Given the description of an element on the screen output the (x, y) to click on. 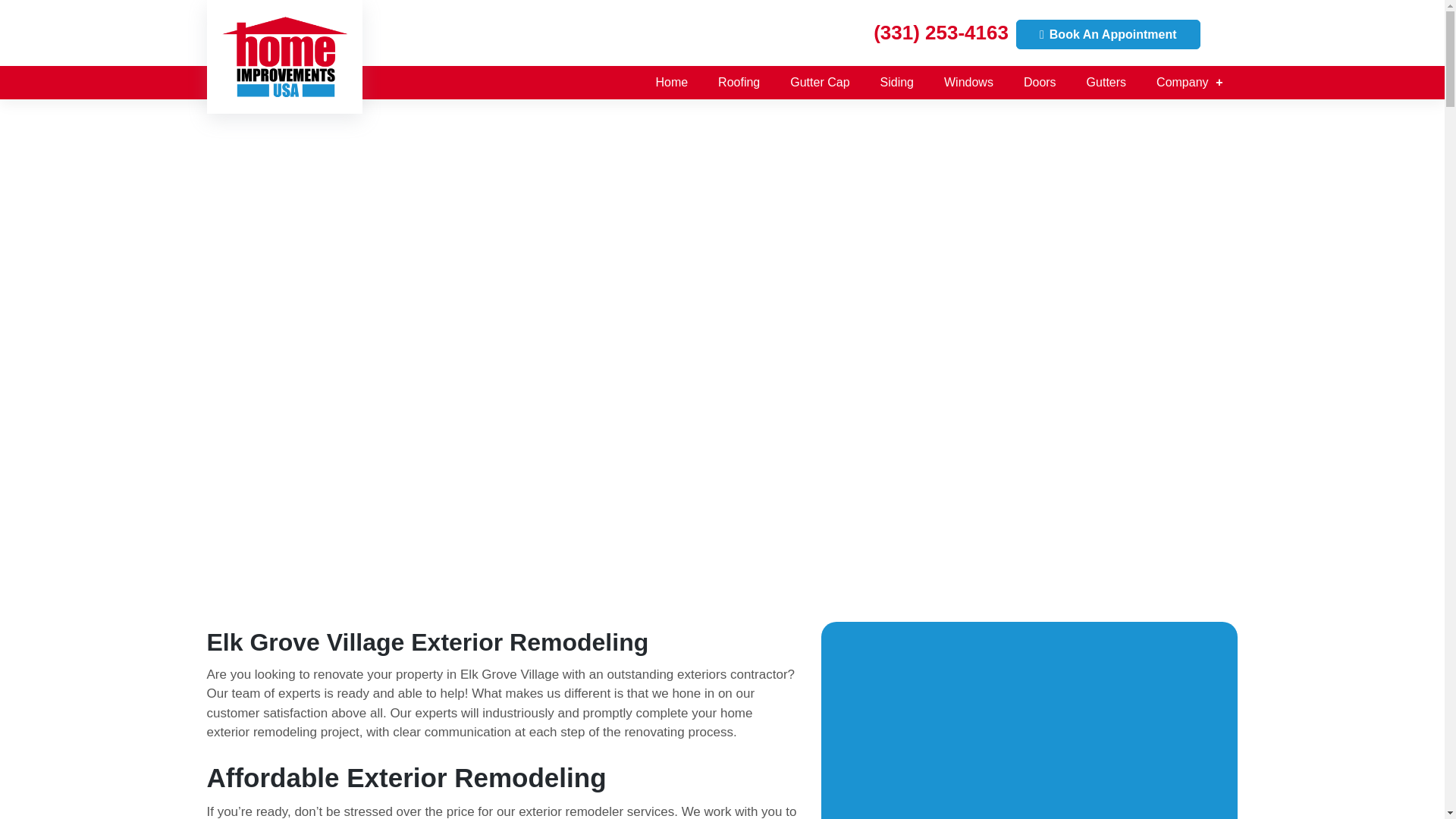
Doors (1040, 82)
Windows (968, 82)
Windows (968, 82)
Home (671, 82)
Gutter Cap (819, 82)
Gutters (1106, 82)
Doors (1040, 82)
Roofing (738, 82)
Home (671, 82)
Book An Appointment (1107, 34)
